Given the description of an element on the screen output the (x, y) to click on. 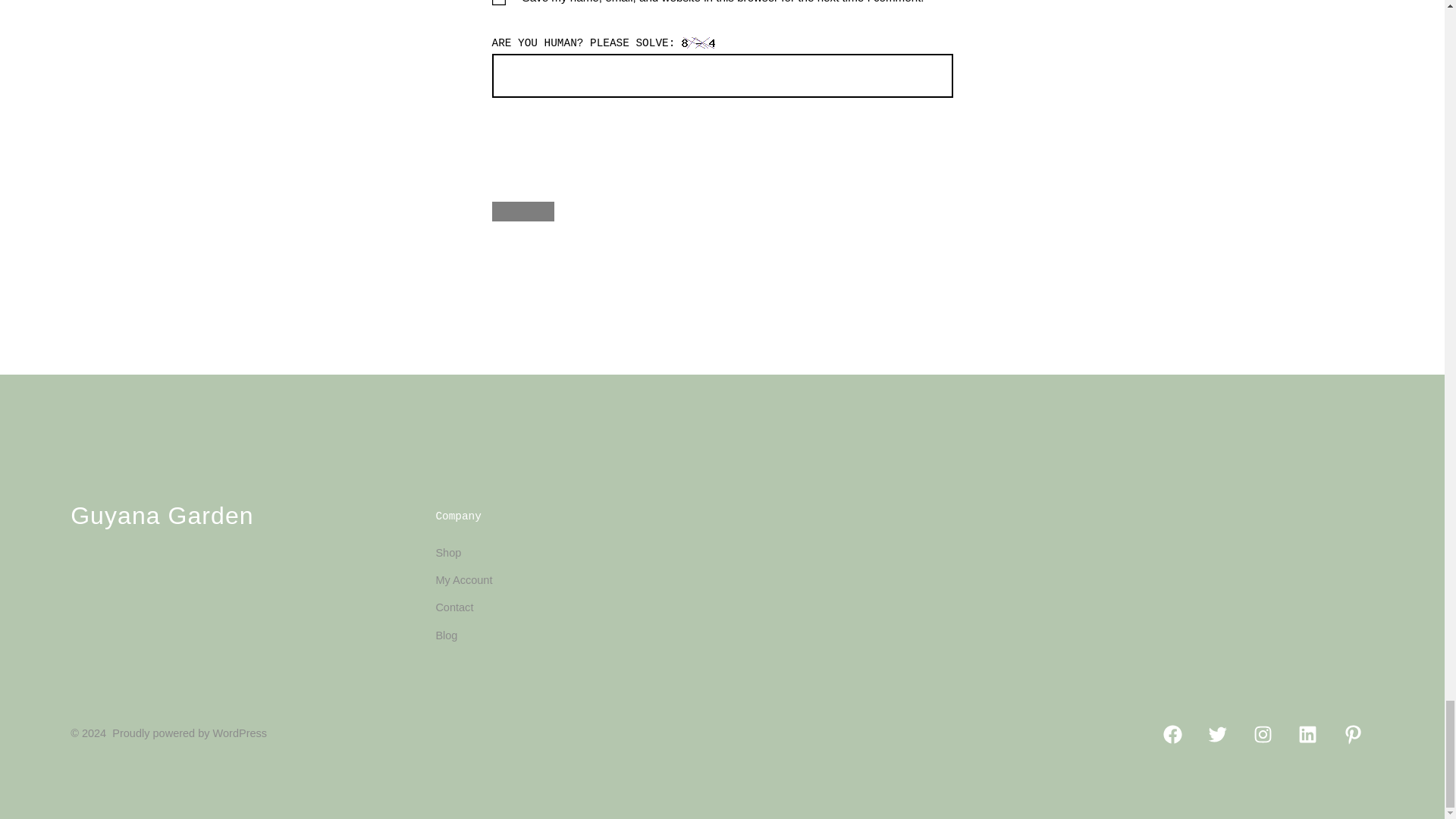
Submit (523, 211)
Guyana Garden (161, 517)
Blog (446, 635)
Submit (523, 211)
Open Facebook in a new tab (1172, 734)
My Account (463, 580)
Contact (454, 607)
Shop (448, 552)
